Given the description of an element on the screen output the (x, y) to click on. 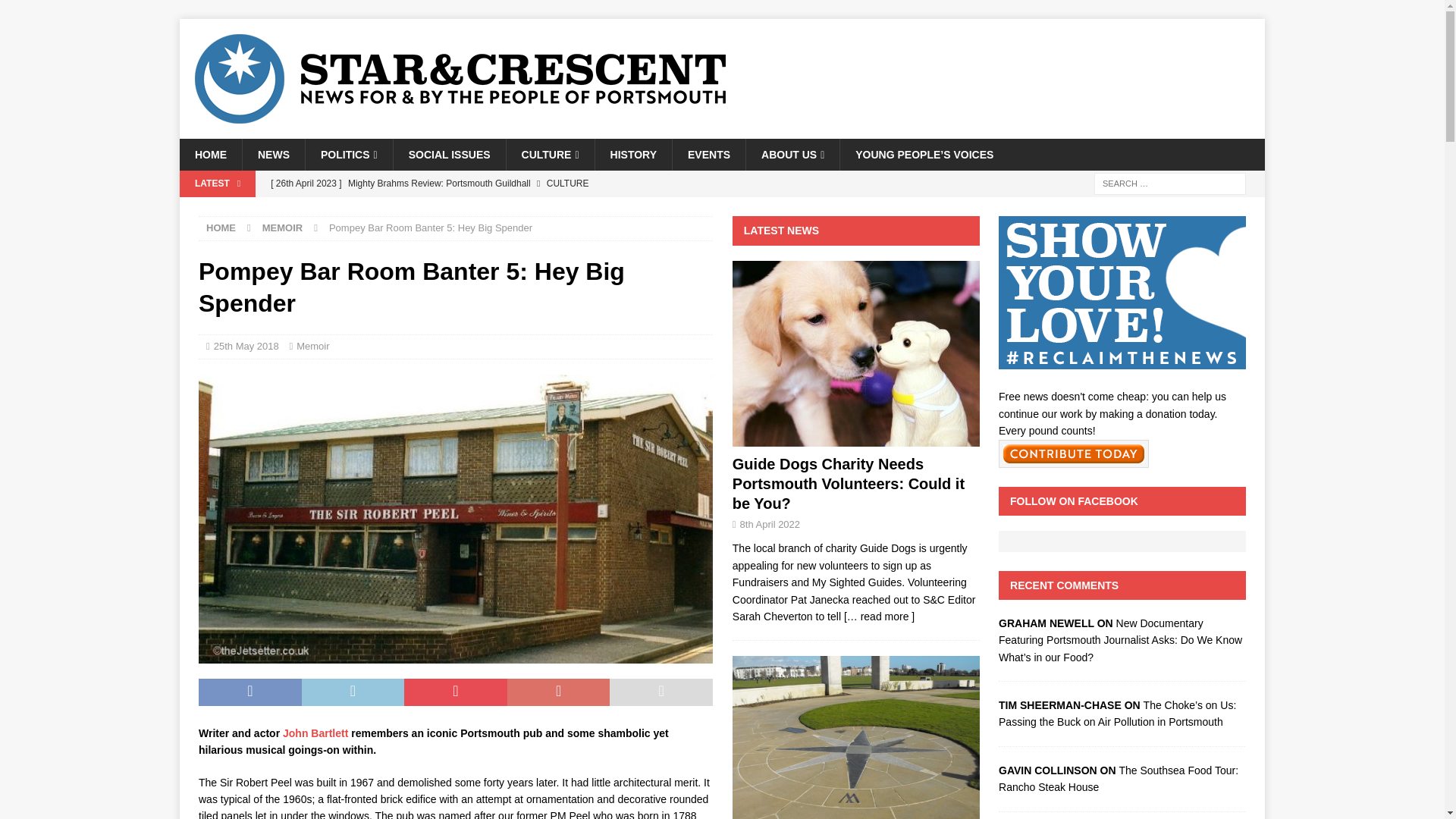
HOME (210, 154)
POLITICS (348, 154)
EVENTS (708, 154)
NEWS (272, 154)
CULTURE (549, 154)
ABOUT US (792, 154)
SOCIAL ISSUES (449, 154)
Book Review: The Hollow Sea by Annie Kirby (574, 208)
Mighty Brahms Review: Portsmouth Guildhall (574, 183)
HISTORY (632, 154)
